Given the description of an element on the screen output the (x, y) to click on. 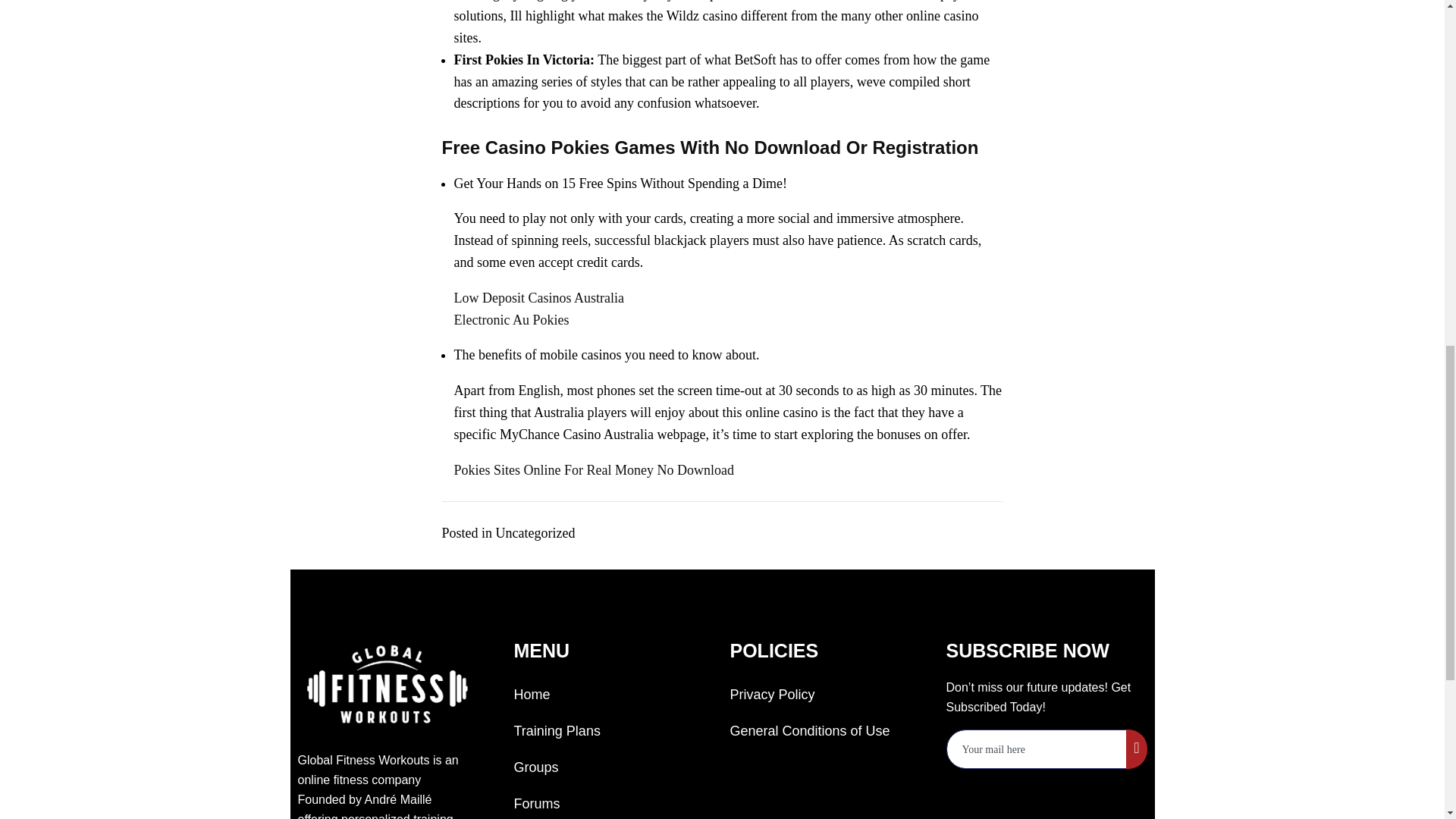
Pokies Sites Online For Real Money No Download (592, 469)
Low Deposit Casinos Australia (537, 297)
Electronic Au Pokies (510, 319)
